Given the description of an element on the screen output the (x, y) to click on. 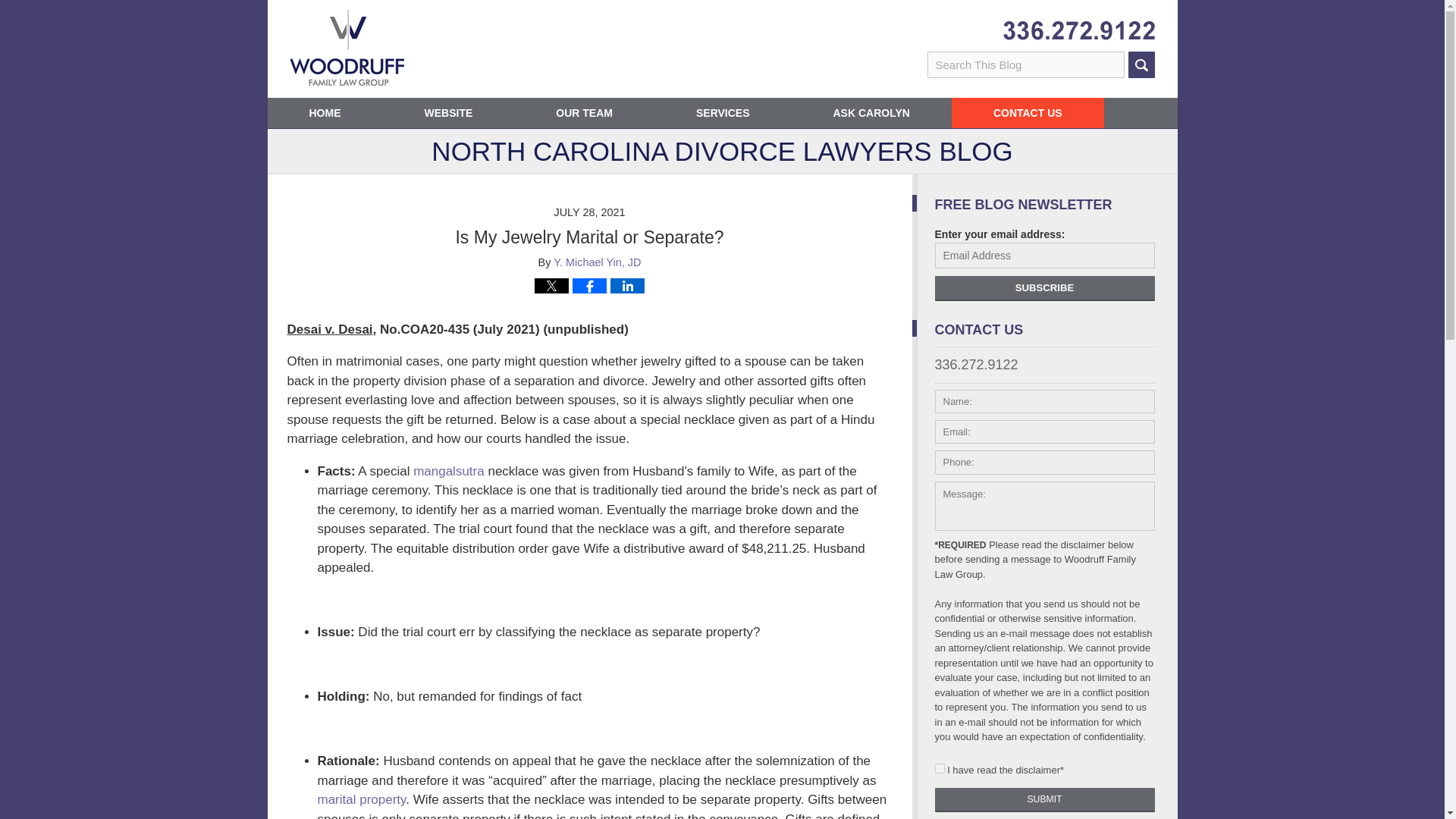
mangalsutra (448, 471)
NORTH CAROLINA DIVORCE LAWYERS BLOG (720, 156)
Y. Michael Yin, JD (596, 262)
Published By Woodruff Family Law Group (1078, 30)
marital property (361, 799)
I have read the disclaimer (938, 768)
North Carolina Divorce Lawyers Blog (346, 47)
Please enter a valid phone number. (1044, 462)
ASK CAROLYN (872, 112)
SERVICES (722, 112)
WEBSITE (447, 112)
HOME (323, 112)
SEARCH (1141, 64)
CONTACT US (1027, 112)
OUR TEAM (583, 112)
